Given the description of an element on the screen output the (x, y) to click on. 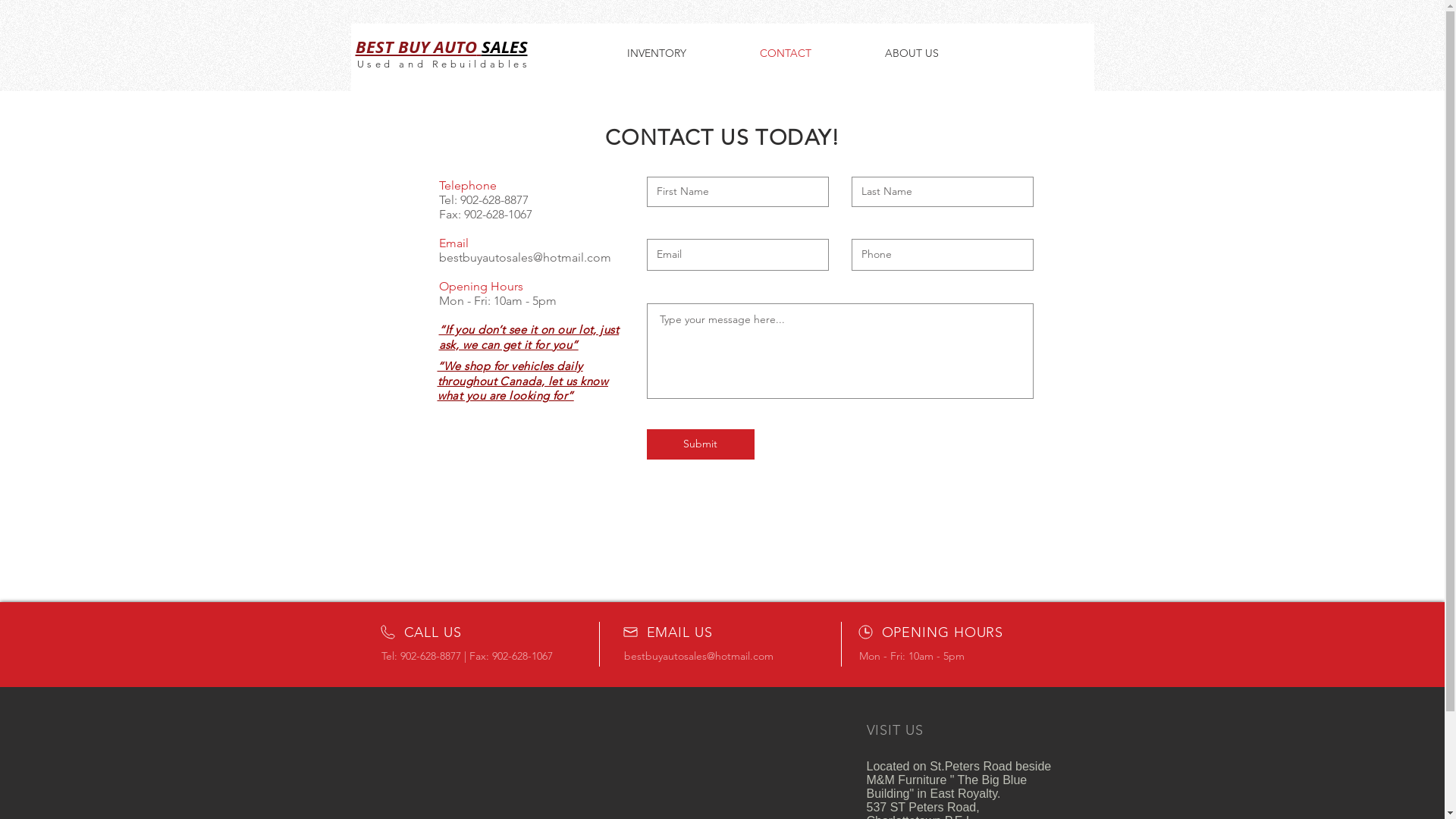
CONTACT Element type: text (785, 52)
ABOUT US Element type: text (911, 52)
bestbuyautosales@hotmail.com Element type: text (697, 655)
Submit Element type: text (699, 444)
BEST BUY AUTO SALES Element type: text (440, 46)
INVENTORY Element type: text (655, 52)
bestbuyautosales@hotmail.com Element type: text (524, 257)
